Given the description of an element on the screen output the (x, y) to click on. 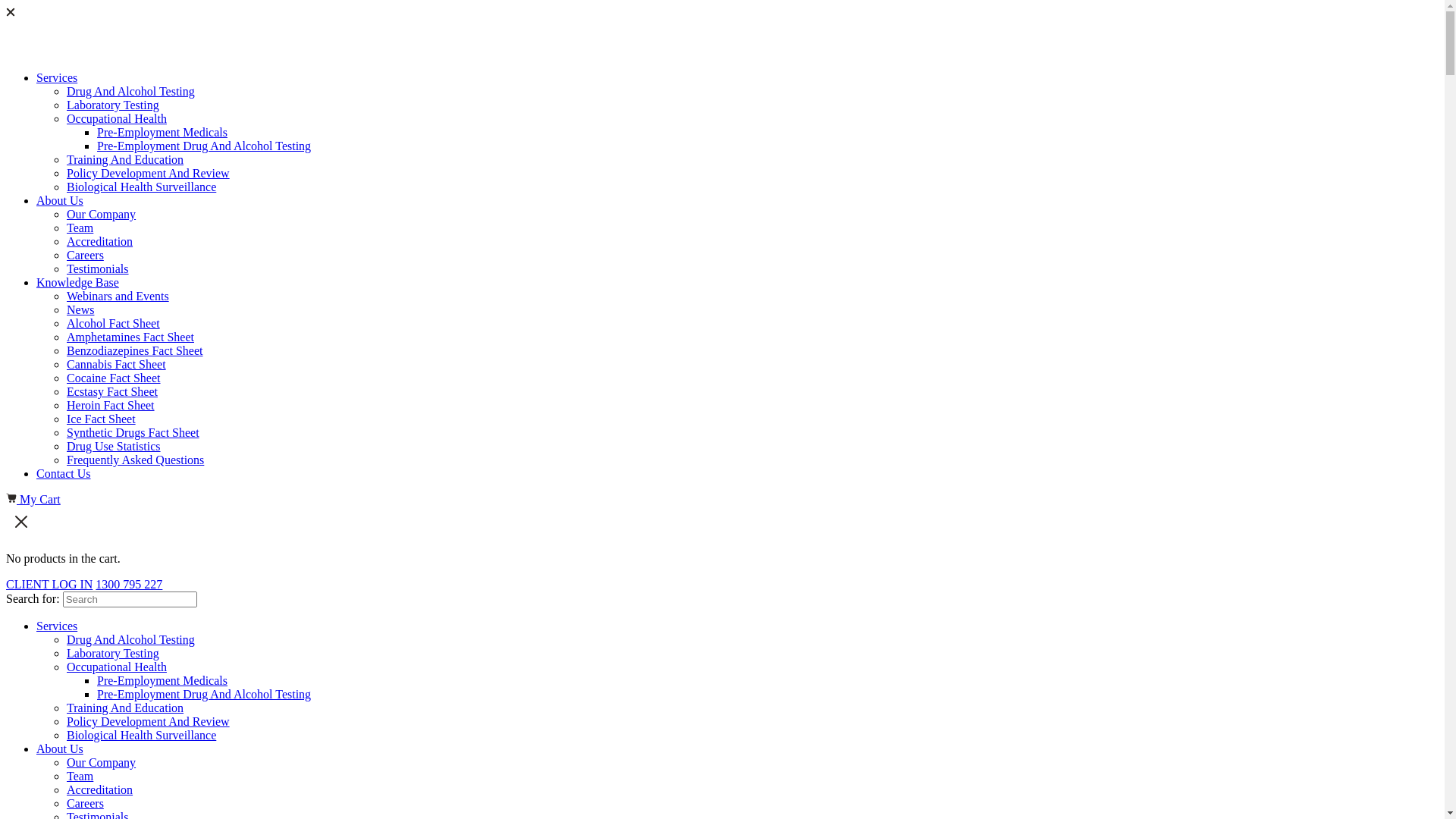
Team Element type: text (79, 227)
Accreditation Element type: text (99, 241)
Webinars and Events Element type: text (117, 295)
CLIENT LOG IN Element type: text (49, 583)
Drug Use Statistics Element type: text (113, 445)
Careers Element type: text (84, 803)
Alcohol Fact Sheet Element type: text (113, 322)
Occupational Health Element type: text (116, 666)
Laboratory Testing Element type: text (112, 652)
Amphetamines Fact Sheet Element type: text (130, 336)
About Us Element type: text (59, 748)
Pre-Employment Drug And Alcohol Testing Element type: text (203, 693)
Knowledge Base Element type: text (77, 282)
Pre-Employment Drug And Alcohol Testing Element type: text (203, 145)
News Element type: text (80, 309)
Pre-Employment Medicals Element type: text (162, 131)
Our Company Element type: text (100, 213)
Ecstasy Fact Sheet Element type: text (111, 391)
Frequently Asked Questions Element type: text (134, 459)
Services Element type: text (56, 625)
Drug And Alcohol Testing Element type: text (130, 90)
Services Element type: text (56, 77)
My Cart Element type: text (33, 498)
Policy Development And Review Element type: text (147, 172)
Biological Health Surveillance Element type: text (141, 734)
Careers Element type: text (84, 254)
Accreditation Element type: text (99, 789)
About Us Element type: text (59, 200)
Team Element type: text (79, 775)
Heroin Fact Sheet Element type: text (110, 404)
Benzodiazepines Fact Sheet Element type: text (134, 350)
1300 795 227 Element type: text (128, 583)
Cannabis Fact Sheet Element type: text (116, 363)
Biological Health Surveillance Element type: text (141, 186)
Policy Development And Review Element type: text (147, 721)
Drug And Alcohol Testing Element type: text (130, 639)
Ice Fact Sheet Element type: text (100, 418)
Testimonials Element type: text (97, 268)
Pre-Employment Medicals Element type: text (162, 680)
Training And Education Element type: text (124, 707)
Laboratory Testing Element type: text (112, 104)
Our Company Element type: text (100, 762)
Cocaine Fact Sheet Element type: text (113, 377)
Occupational Health Element type: text (116, 118)
Synthetic Drugs Fact Sheet Element type: text (132, 432)
Contact Us Element type: text (63, 473)
Training And Education Element type: text (124, 159)
